Given the description of an element on the screen output the (x, y) to click on. 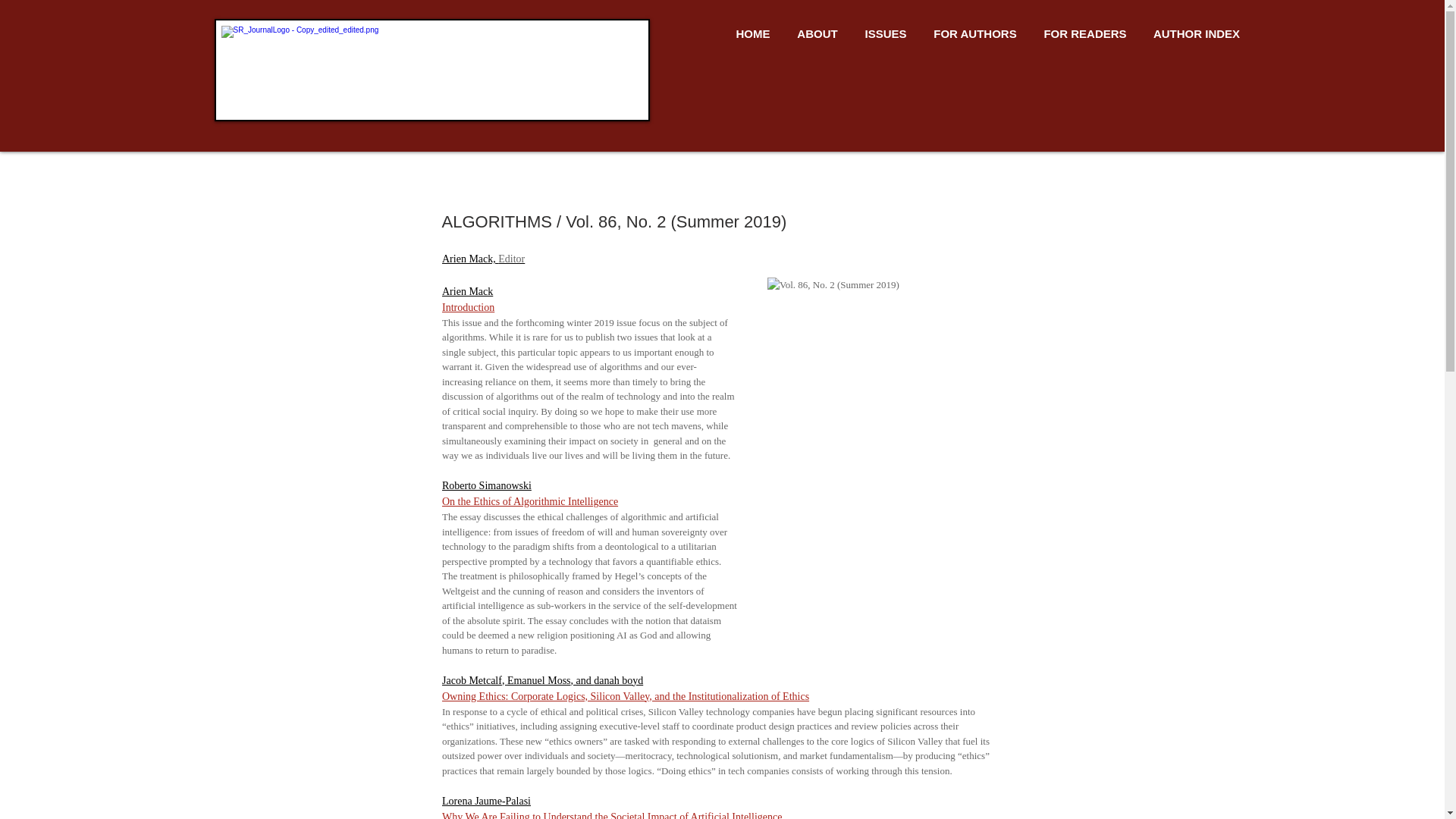
danah boyd (618, 680)
Arien Mack (466, 290)
On the Ethics of Algorithmic Intelligence (529, 501)
Roberto Simanowski (486, 485)
AUTHOR INDEX (1196, 33)
Emanuel Moss (538, 680)
HOME (752, 33)
Lorena Jaume-Palasi (485, 799)
